Given the description of an element on the screen output the (x, y) to click on. 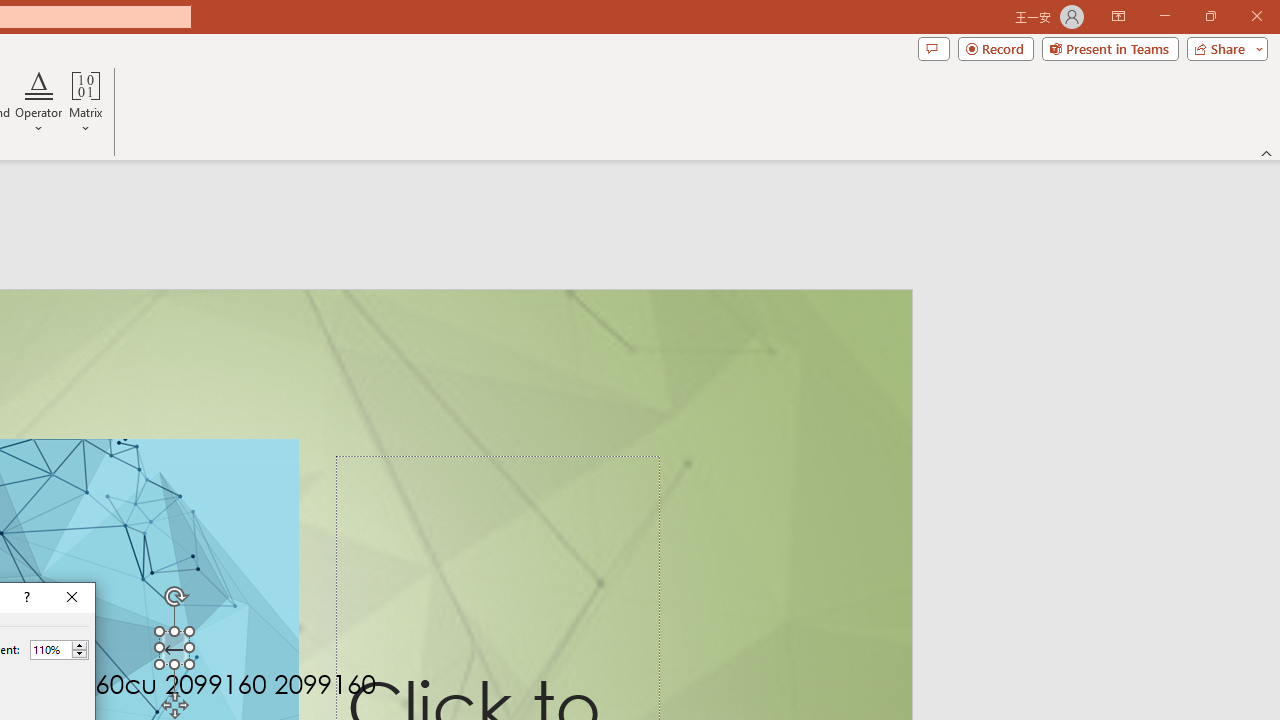
Percent (59, 650)
Less (79, 654)
Matrix (86, 102)
Operator (38, 102)
Context help (25, 597)
More (79, 645)
